Given the description of an element on the screen output the (x, y) to click on. 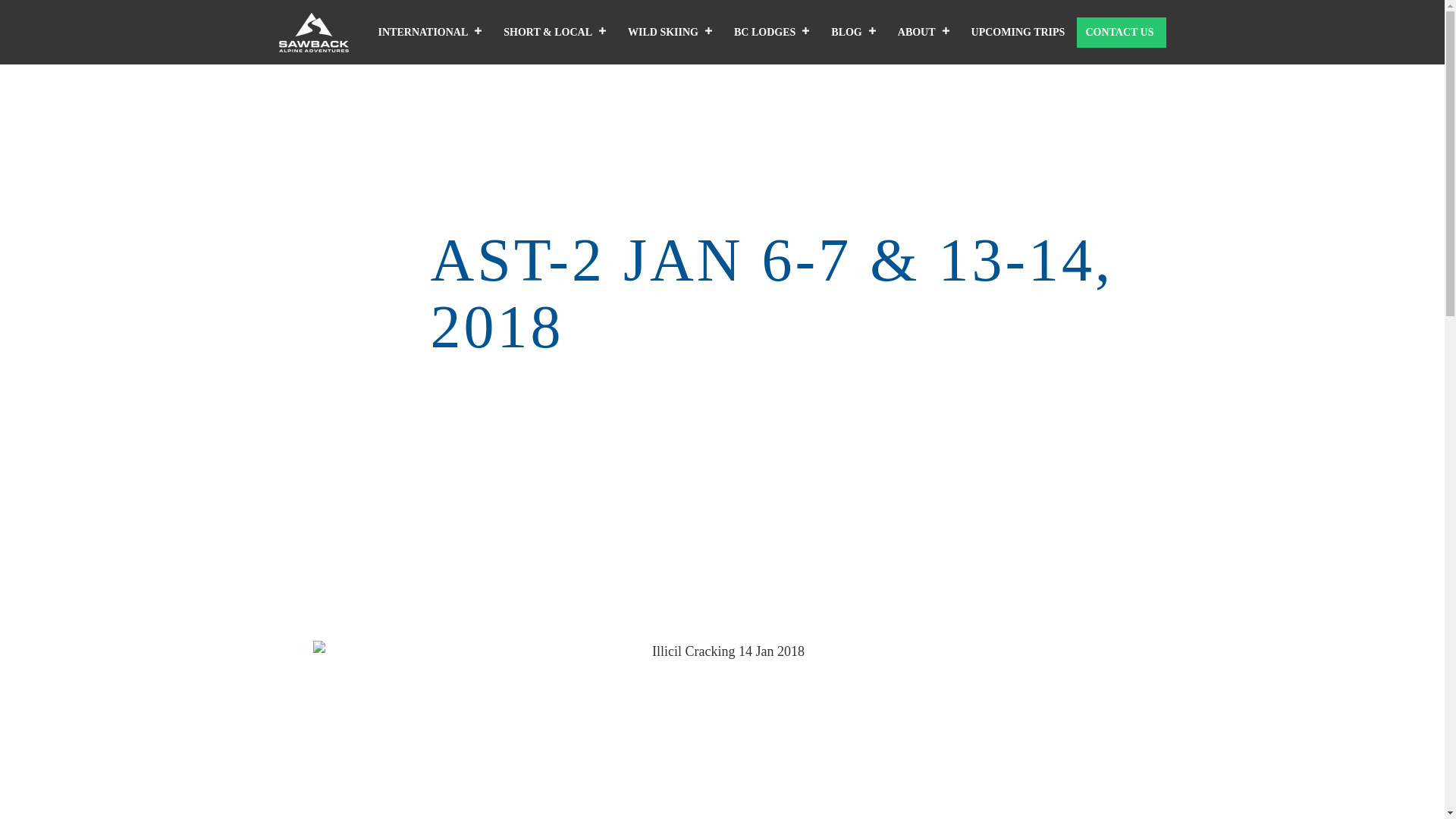
BLOG (855, 32)
BC LODGES (773, 32)
WILD SKIING (672, 32)
ABOUT (925, 32)
INTERNATIONAL (432, 32)
